Given the description of an element on the screen output the (x, y) to click on. 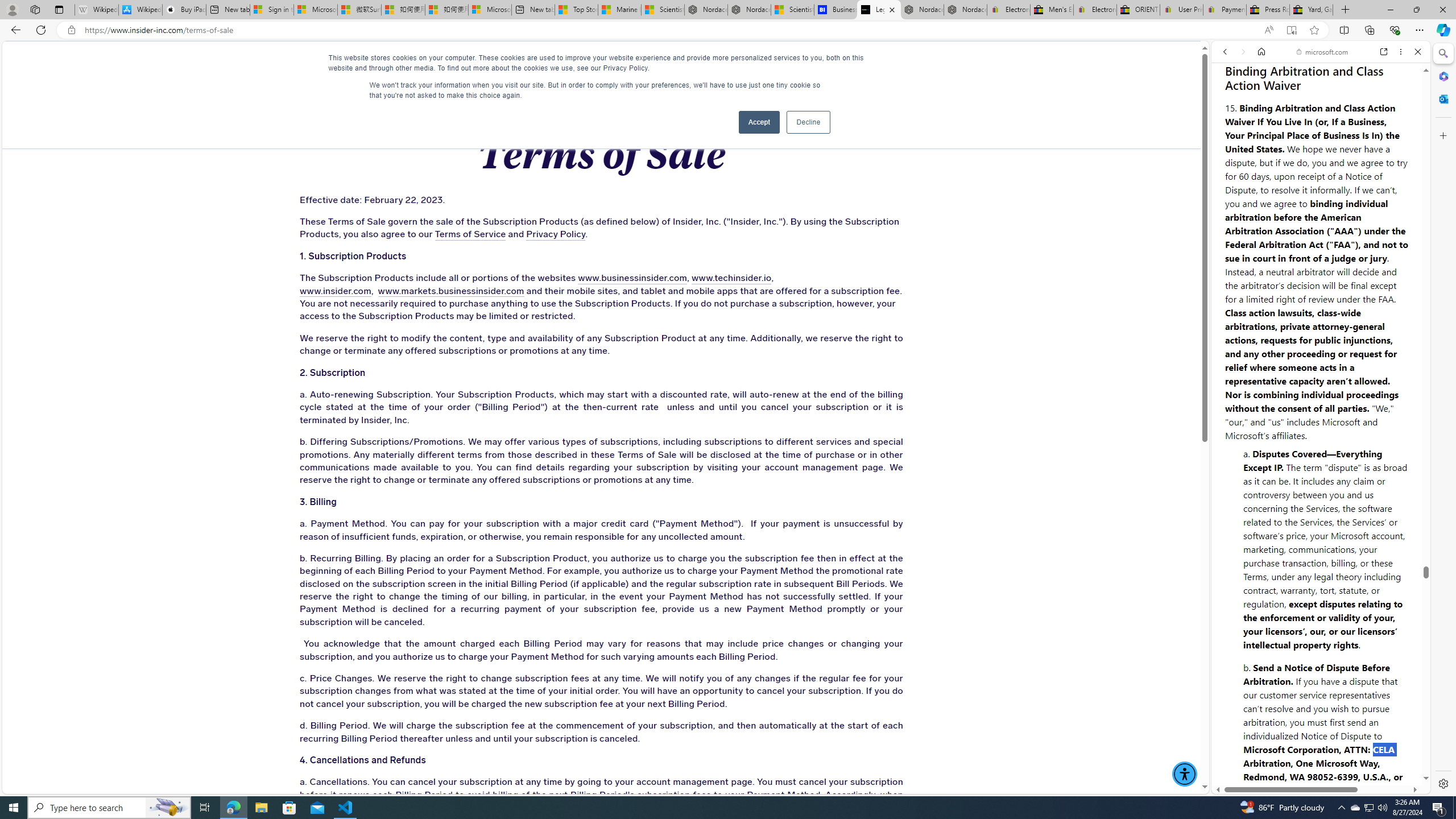
WHAT WE DO (260, 62)
NEWS (730, 62)
Accessibility Menu (1184, 773)
Sign in to your Microsoft account (271, 9)
www.techinsider.io (731, 278)
Buy iPad - Apple (184, 9)
Privacy Policy (555, 234)
